Given the description of an element on the screen output the (x, y) to click on. 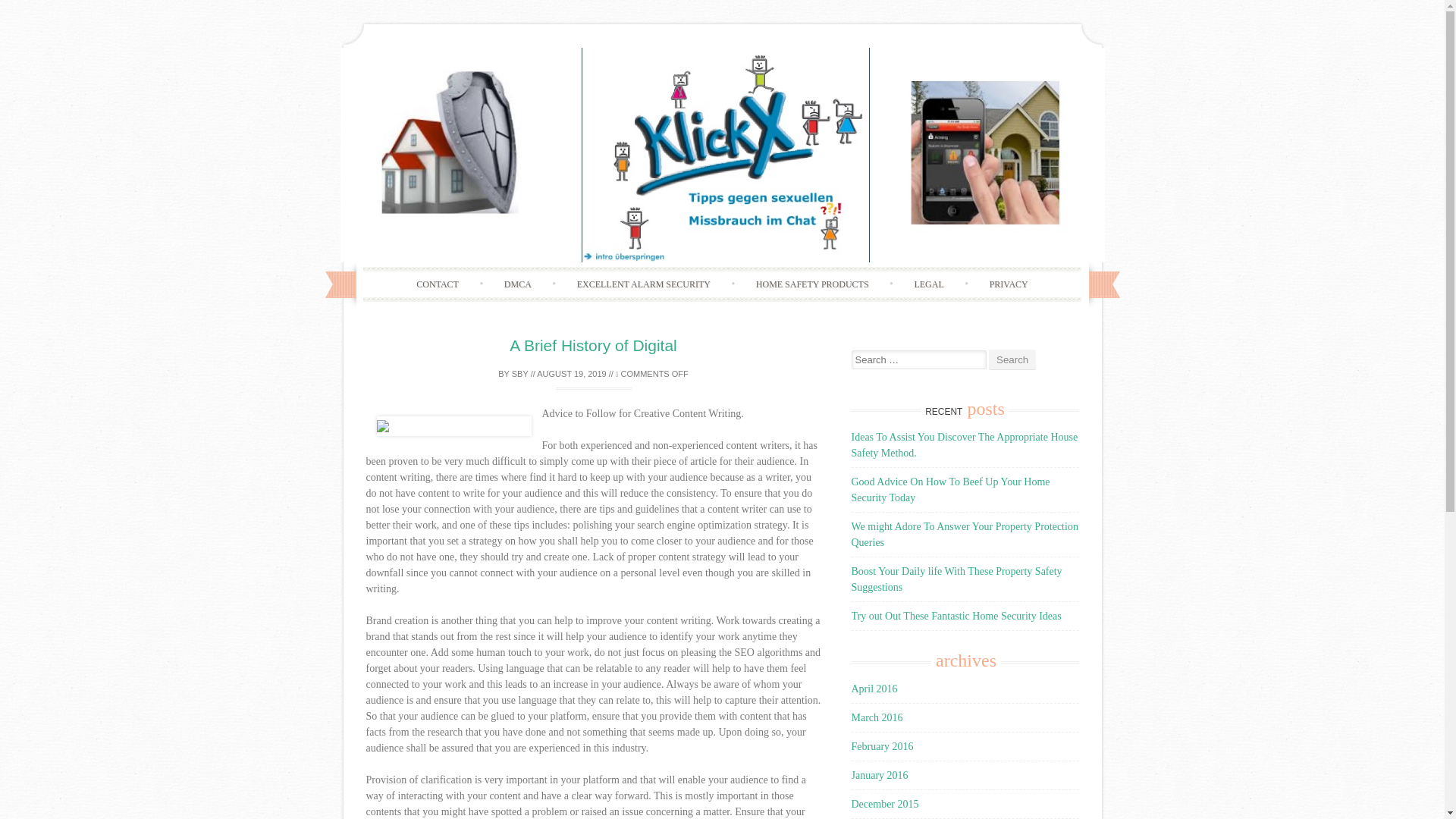
PRIVACY (1008, 284)
View all posts by sby (520, 373)
December 2015 (884, 803)
Search (1011, 359)
A Brief History of Digital (593, 344)
DMCA (518, 284)
February 2016 (881, 746)
11:50 am (572, 373)
Boost Your Daily life With These Property Safety Suggestions (955, 578)
Try out Out These Fantastic Home Security Ideas (955, 615)
January 2016 (878, 775)
Search (1011, 359)
LEGAL (927, 284)
HOME SAFETY PRODUCTS (812, 284)
